Given the description of an element on the screen output the (x, y) to click on. 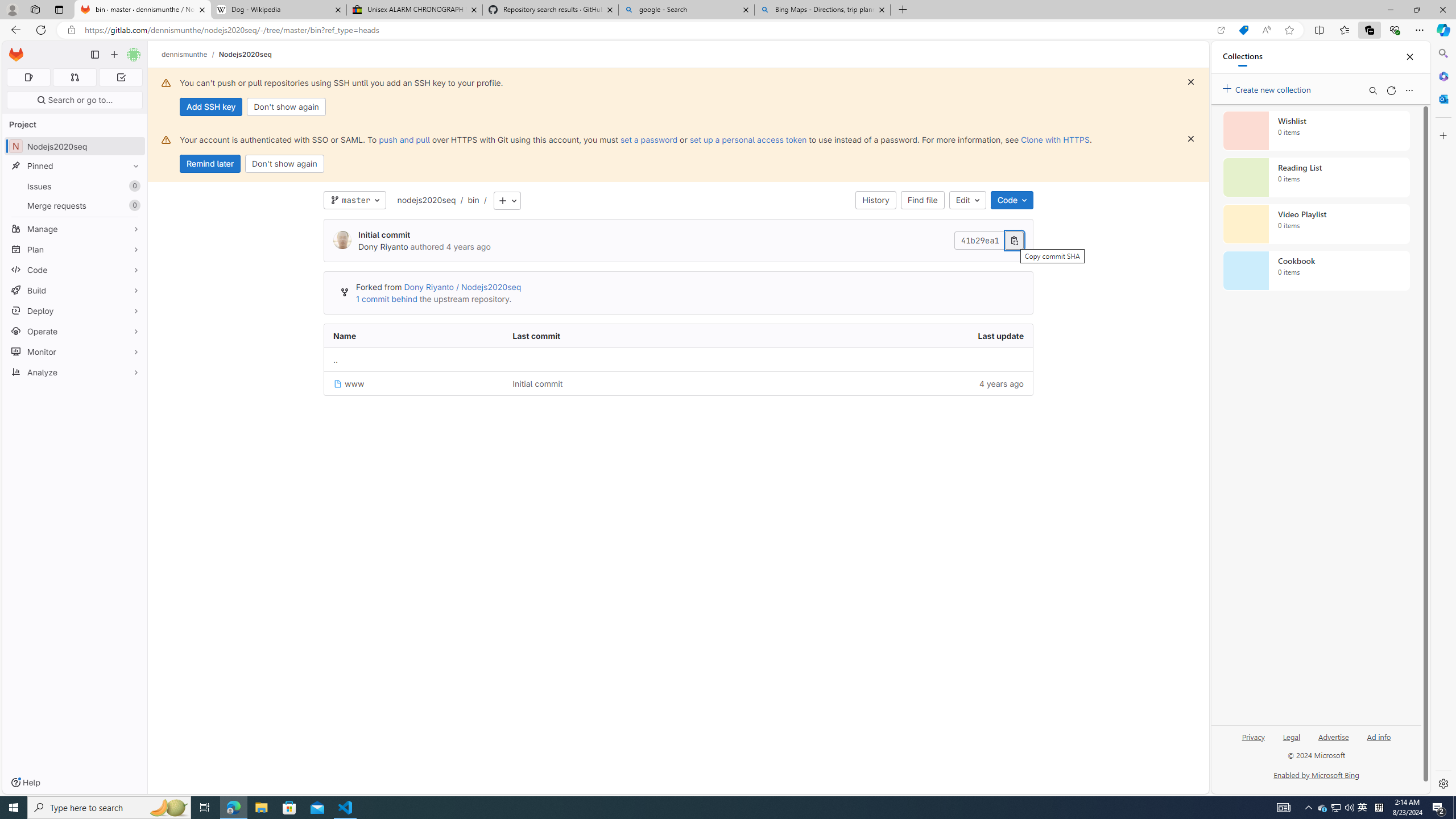
Open in app (1220, 29)
Plan (74, 248)
1 commit behind (386, 299)
Merge requests 0 (74, 76)
NNodejs2020seq (74, 145)
Dog - Wikipedia (277, 9)
bin (473, 199)
Ad info (1378, 741)
Merge requests 0 (74, 205)
Help (25, 782)
